Given the description of an element on the screen output the (x, y) to click on. 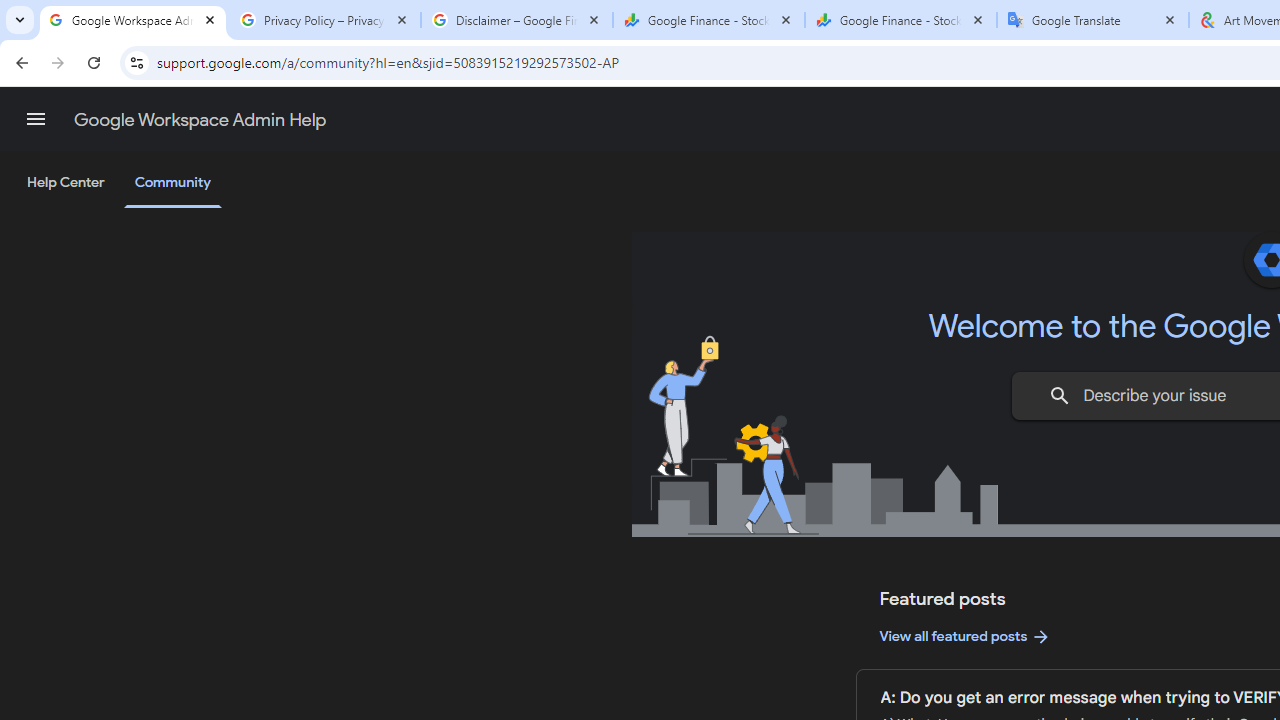
Community (171, 183)
Main menu (35, 119)
